Given the description of an element on the screen output the (x, y) to click on. 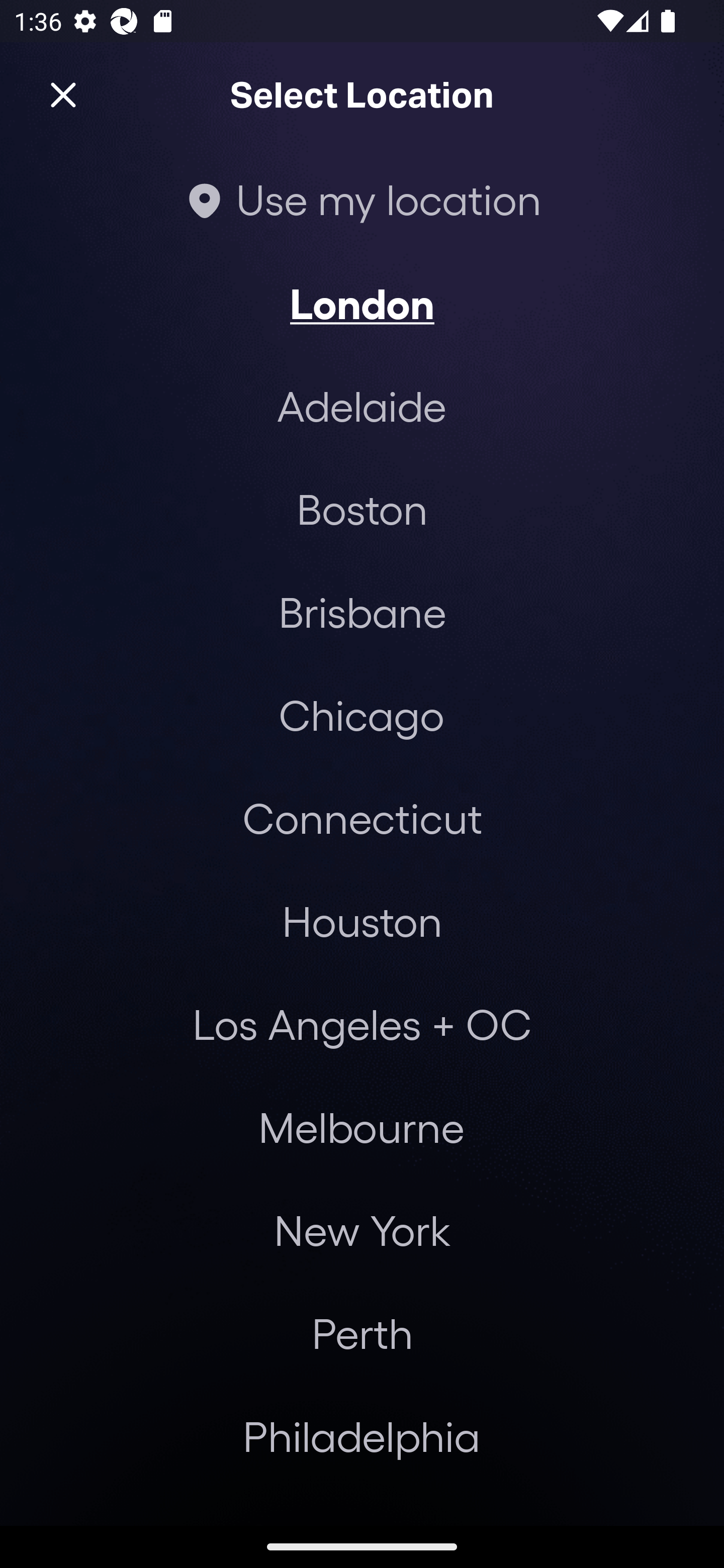
Close (62, 95)
   Use my location (362, 198)
London (361, 302)
Adelaide (361, 405)
Boston (361, 508)
Brisbane (361, 611)
Chicago (361, 714)
Connecticut (361, 817)
Houston (361, 920)
Los Angeles + OC (361, 1023)
Melbourne (361, 1127)
New York (361, 1230)
Perth (361, 1332)
Philadelphia (361, 1436)
